Given the description of an element on the screen output the (x, y) to click on. 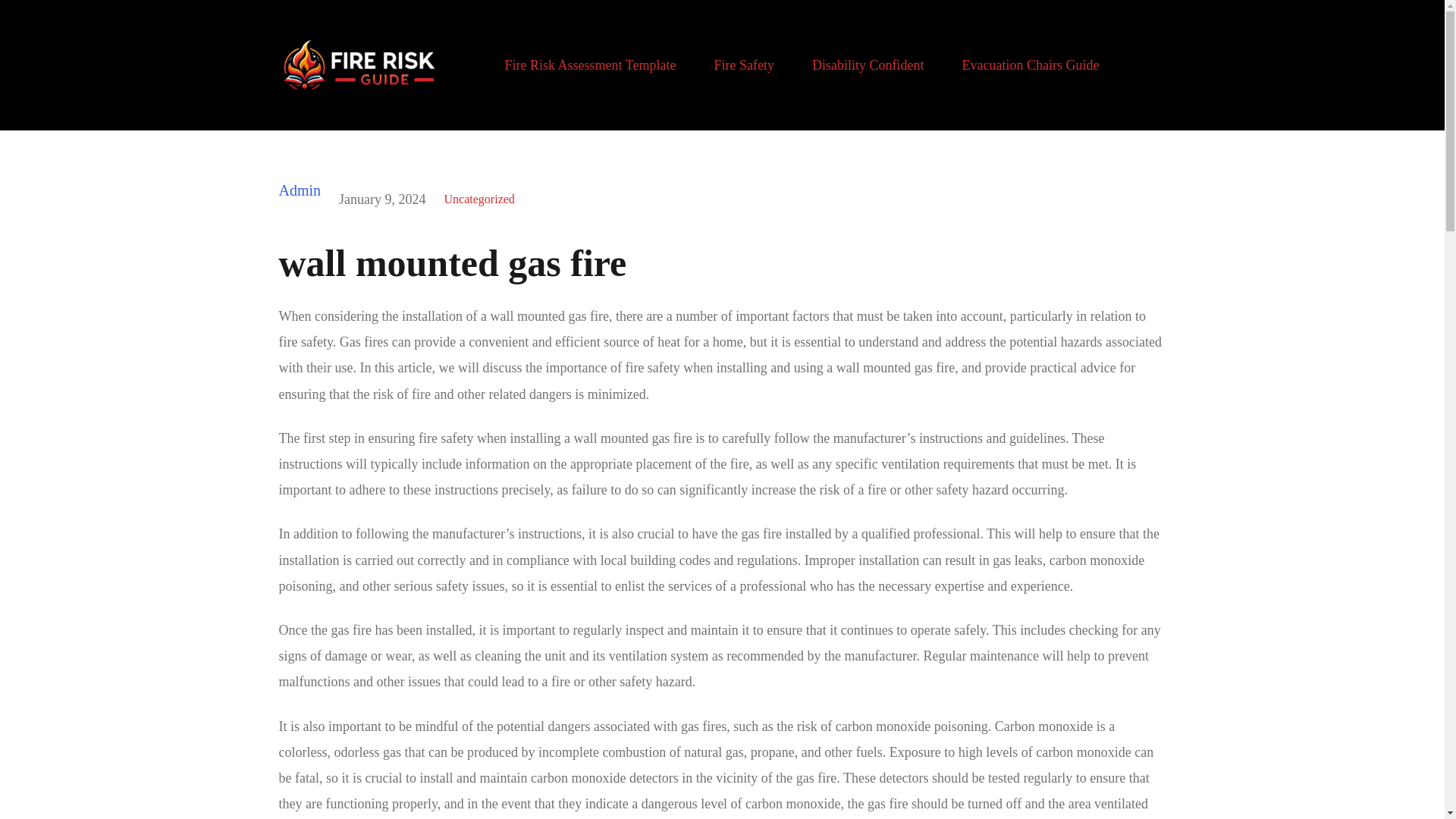
Fire Risk Assessment Template (591, 65)
Fire Safety (743, 65)
Disability Confident (868, 65)
Evacuation Chairs Guide (1029, 65)
Uncategorized (479, 198)
